Given the description of an element on the screen output the (x, y) to click on. 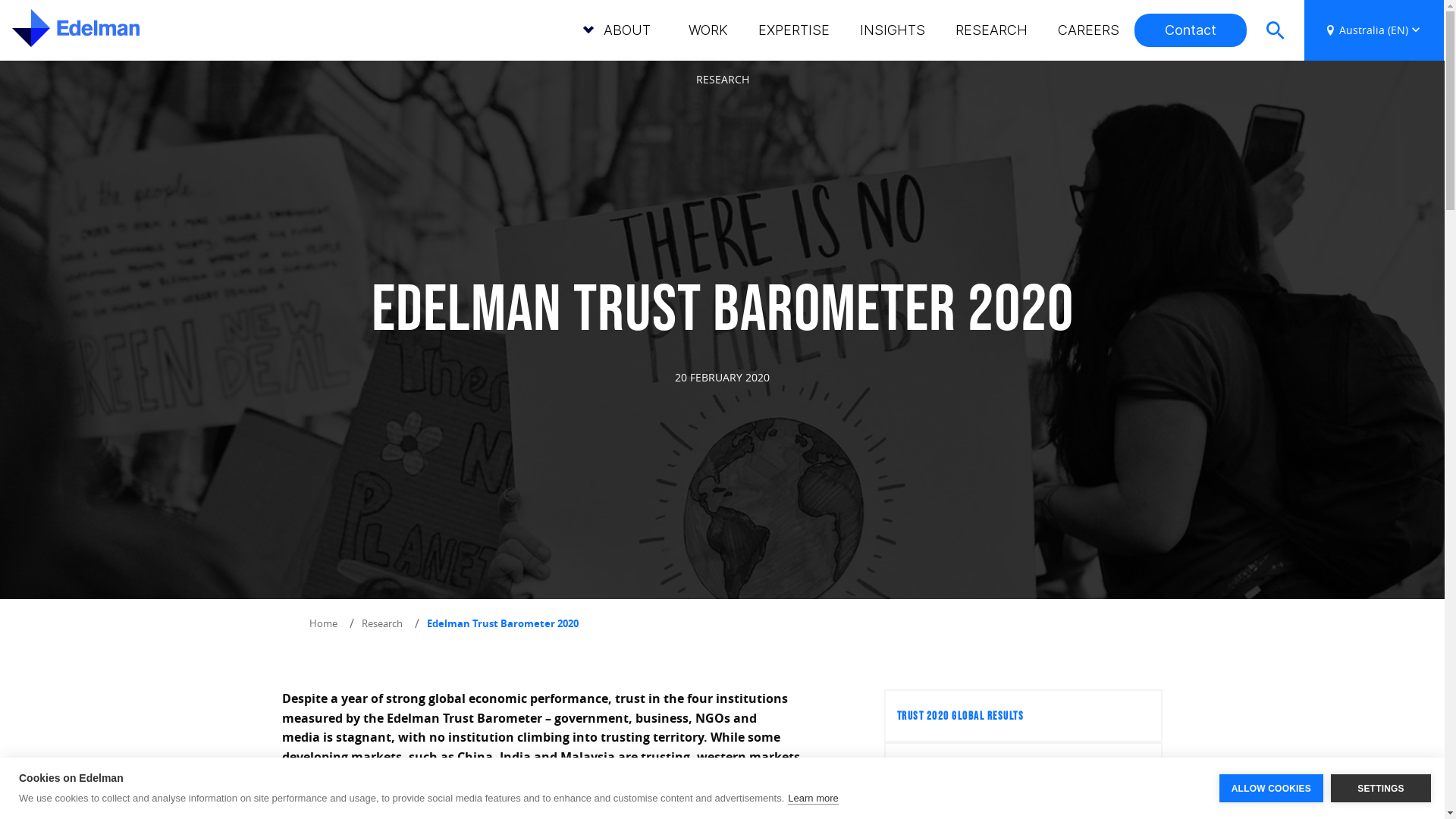
ALLOW COOKIES Element type: text (1271, 788)
SETTINGS Element type: text (1380, 788)
Australia (EN) Element type: text (1373, 30)
Trust 2020 Global results Element type: text (1023, 715)
Trust 2020 Australia Element type: text (1023, 768)
Home Element type: text (323, 623)
Download the 2020 Edelman Trust Barometer report Element type: text (452, 806)
Research Element type: text (381, 623)
Apply Element type: text (1287, 90)
Skip to main content Element type: text (0, 60)
Learn more Element type: text (812, 797)
INSIGHTS Element type: text (892, 30)
ABOUT Element type: text (626, 30)
RESEARCH Element type: text (991, 30)
CAREERS Element type: text (1088, 30)
Contact Element type: text (1190, 30)
WORK Element type: text (708, 30)
EXPERTISE Element type: text (793, 30)
